Given the description of an element on the screen output the (x, y) to click on. 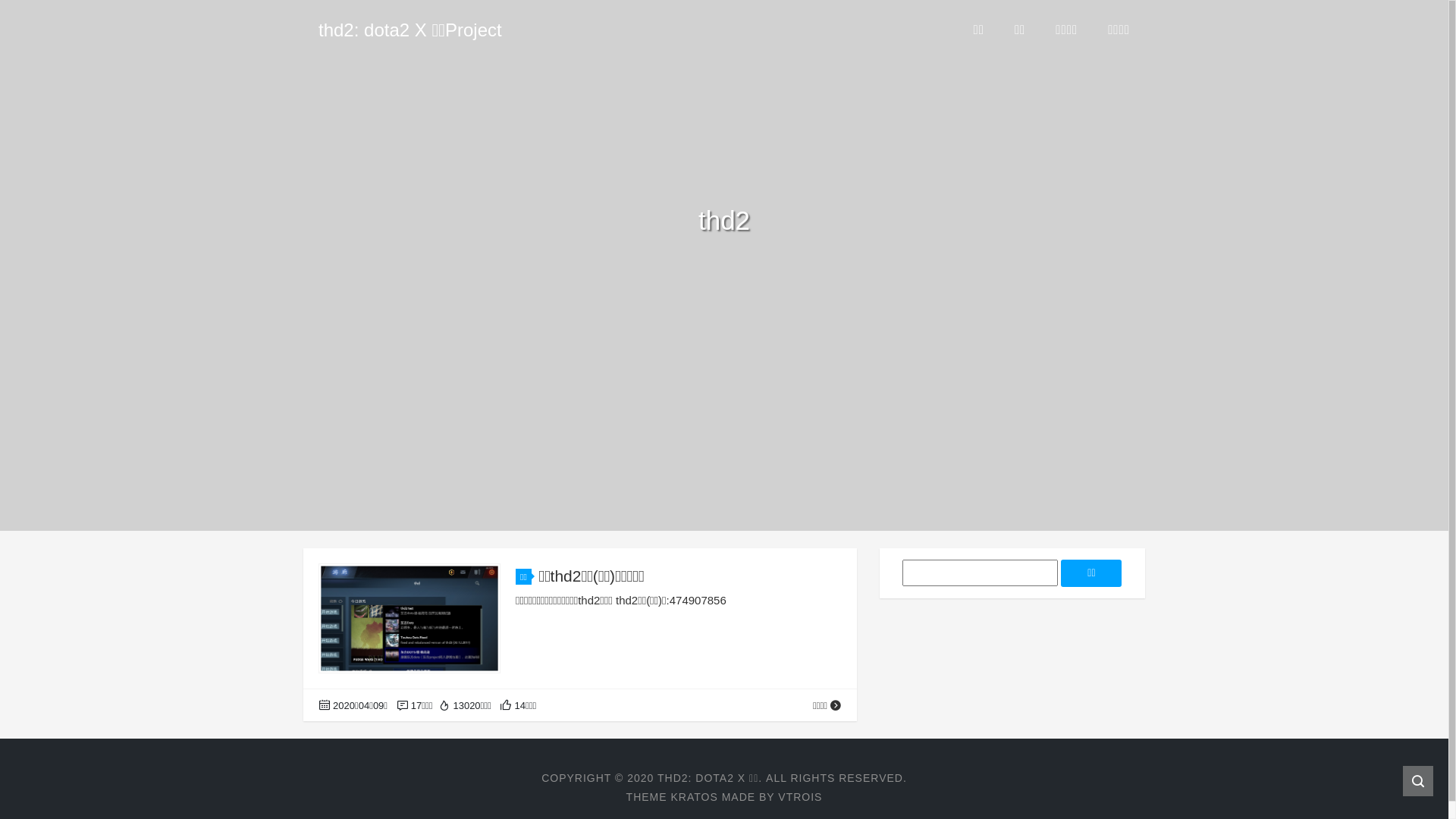
VTROIS Element type: text (800, 796)
KRATOS Element type: text (693, 796)
